Given the description of an element on the screen output the (x, y) to click on. 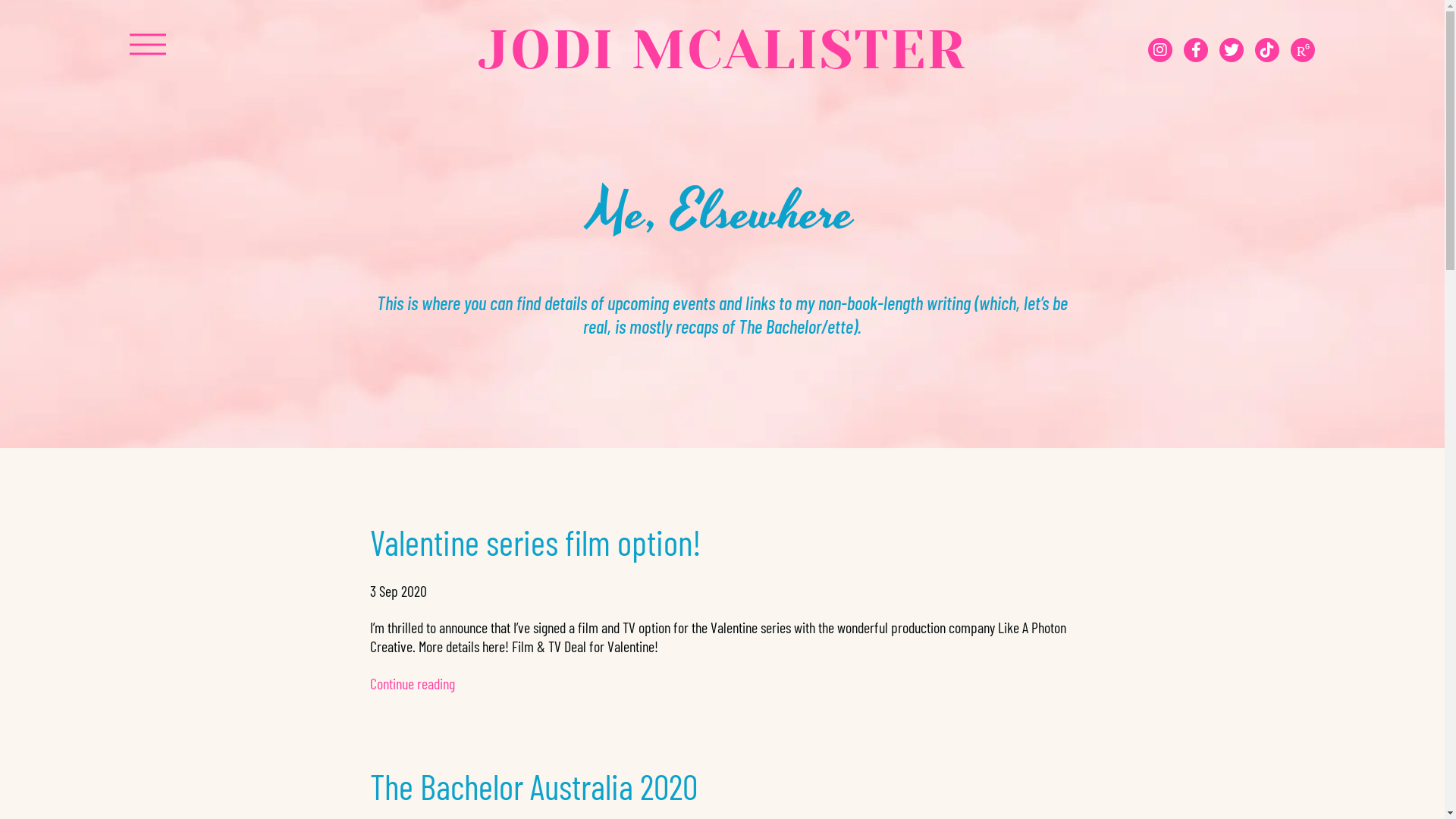
Continue reading Element type: text (412, 683)
Facebook Element type: hover (1195, 49)
Instagram Element type: hover (1160, 49)
Subscribe Element type: hover (1231, 49)
The Bachelor Australia 2020 Element type: text (533, 785)
Tiktok Element type: hover (1267, 49)
JODI MCALISTER Element type: text (722, 49)
Valentine series film option! Element type: text (535, 541)
